Given the description of an element on the screen output the (x, y) to click on. 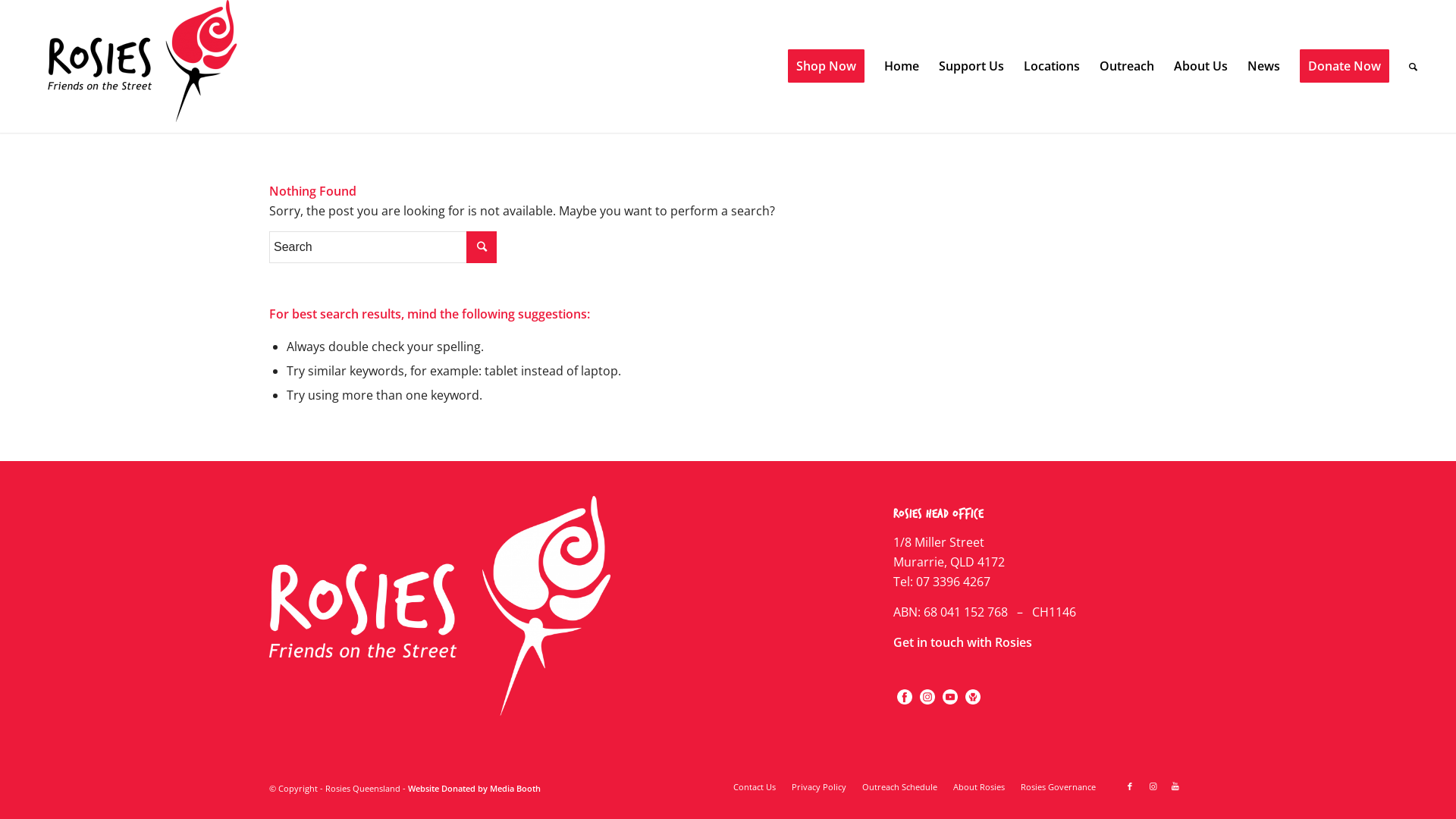
YouTube Element type: hover (949, 696)
Instagram Element type: hover (927, 703)
Privacy Policy Element type: text (818, 786)
Home Element type: text (901, 66)
Facebook Element type: hover (1129, 786)
Outreach Element type: text (1126, 66)
Locations Element type: text (1051, 66)
About Us Element type: text (1200, 66)
Website Donated by Media Booth Element type: text (473, 787)
YouTube Element type: hover (949, 703)
News Element type: text (1263, 66)
Get in touch with Rosies Element type: text (962, 641)
Youtube Element type: hover (1175, 786)
Rosies Governance Element type: text (1057, 786)
Contact Us Element type: text (754, 786)
Support Us Element type: text (970, 66)
Donation Element type: hover (972, 703)
Donation Element type: hover (972, 696)
Facebook Element type: hover (904, 703)
Outreach Schedule Element type: text (899, 786)
Instagram Element type: hover (927, 696)
Instagram Element type: hover (1152, 786)
07 3396 4267 Element type: text (953, 581)
Facebook Element type: hover (904, 696)
Donate Now Element type: text (1344, 66)
Shop Now Element type: text (826, 66)
About Rosies Element type: text (978, 786)
